Given the description of an element on the screen output the (x, y) to click on. 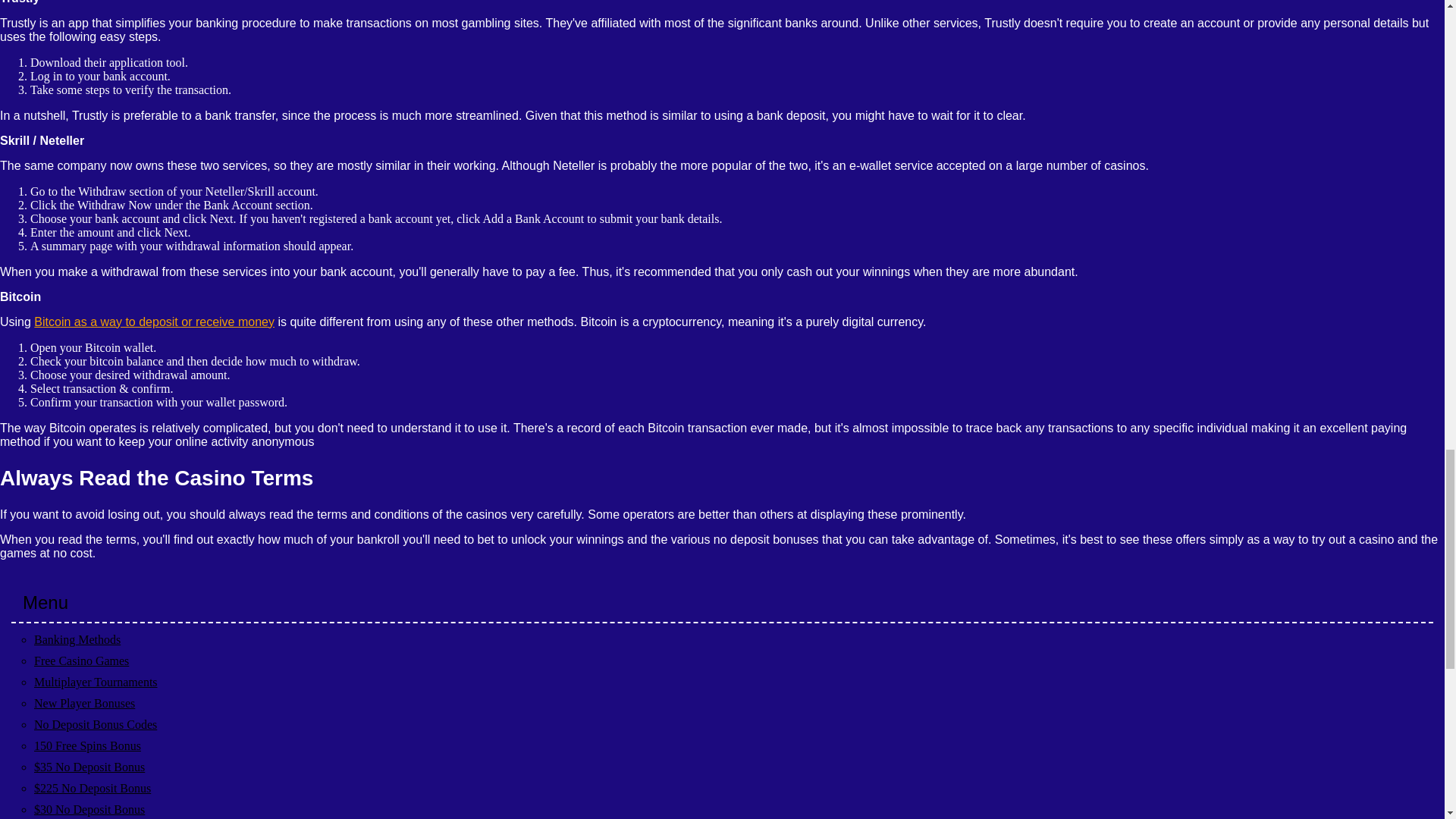
New Player Bonuses (84, 703)
150 Free Spins Bonus (87, 745)
Multiplayer Tournaments (95, 681)
No Deposit Bonus Codes (95, 724)
Bitcoin as a way to deposit or receive money (154, 321)
Banking Methods (76, 639)
Free Casino Games (81, 660)
